Given the description of an element on the screen output the (x, y) to click on. 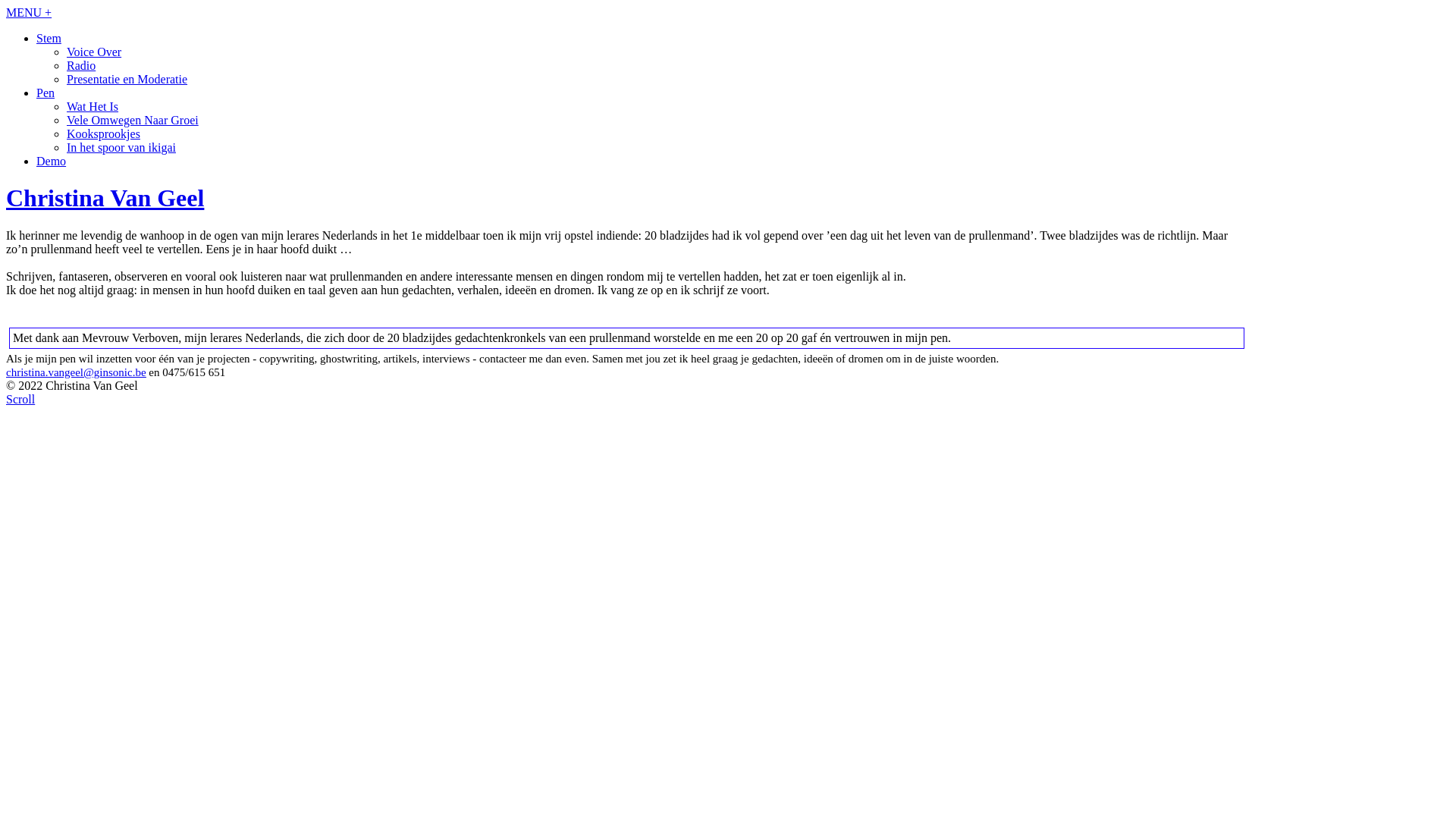
Demo Element type: text (50, 160)
MENU + Element type: text (28, 12)
christina.vangeel@ginsonic.be Element type: text (76, 372)
Christina Van Geel Element type: text (727, 198)
Pen Element type: text (45, 92)
Voice Over Element type: text (93, 51)
Wat Het Is Element type: text (92, 106)
In het spoor van ikigai Element type: text (120, 147)
Presentatie en Moderatie Element type: text (126, 78)
Vele Omwegen Naar Groei Element type: text (132, 119)
Scroll Element type: text (20, 398)
Kooksprookjes Element type: text (103, 133)
Stem Element type: text (48, 37)
Radio Element type: text (80, 65)
